Given the description of an element on the screen output the (x, y) to click on. 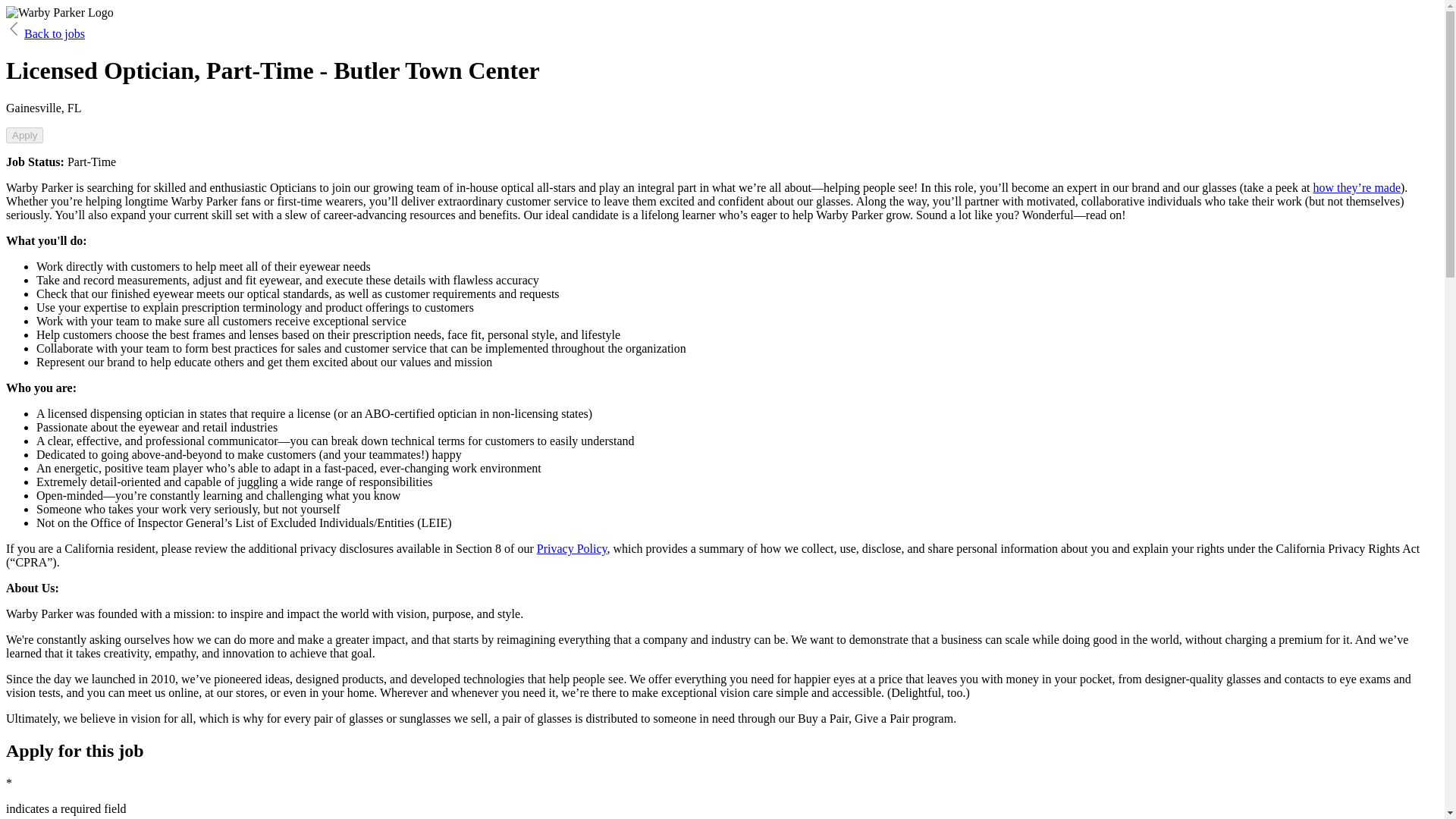
Back to jobs (44, 33)
Privacy Policy (572, 548)
Apply (24, 135)
